Given the description of an element on the screen output the (x, y) to click on. 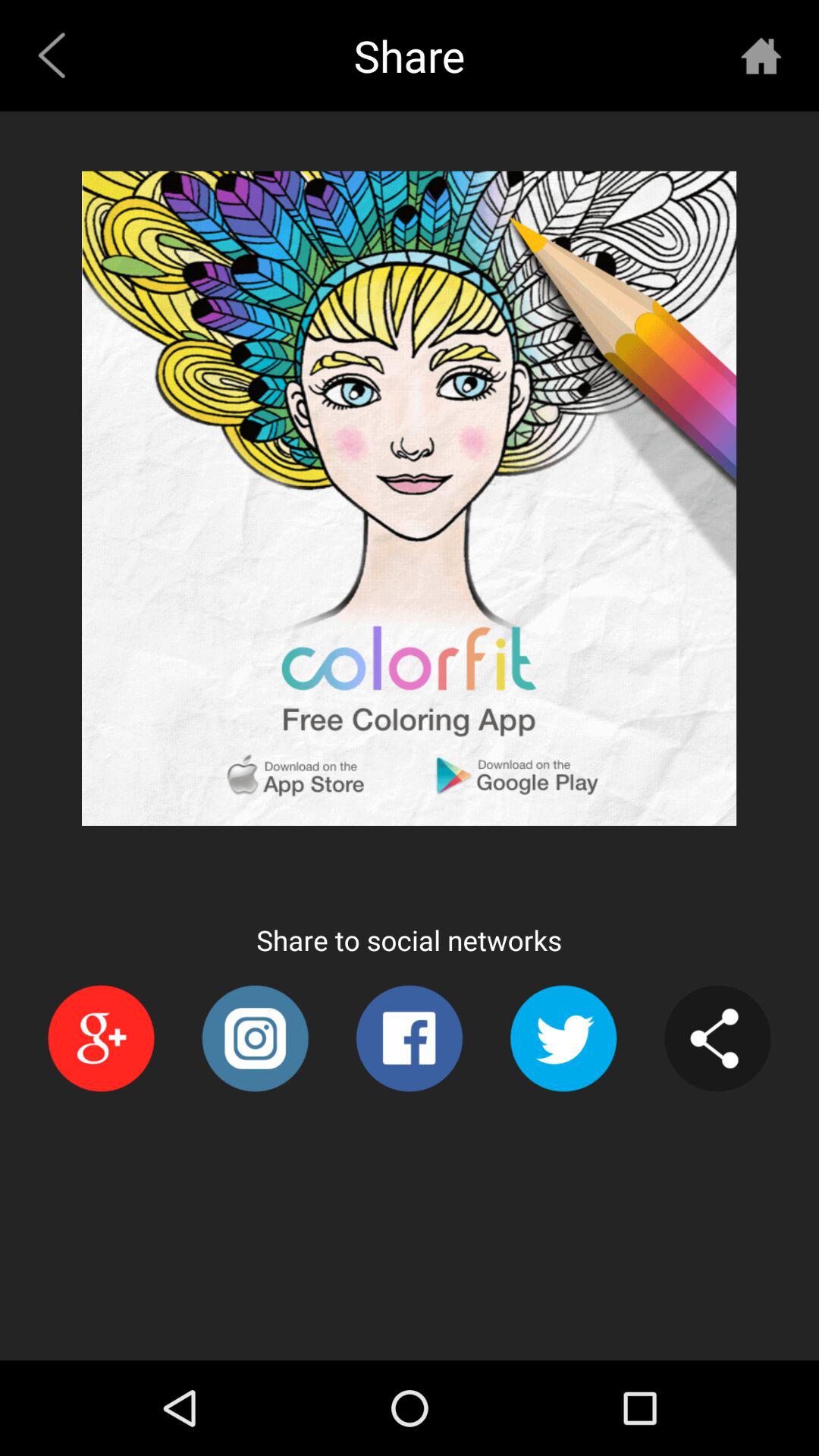
share to instagram (255, 1038)
